Given the description of an element on the screen output the (x, y) to click on. 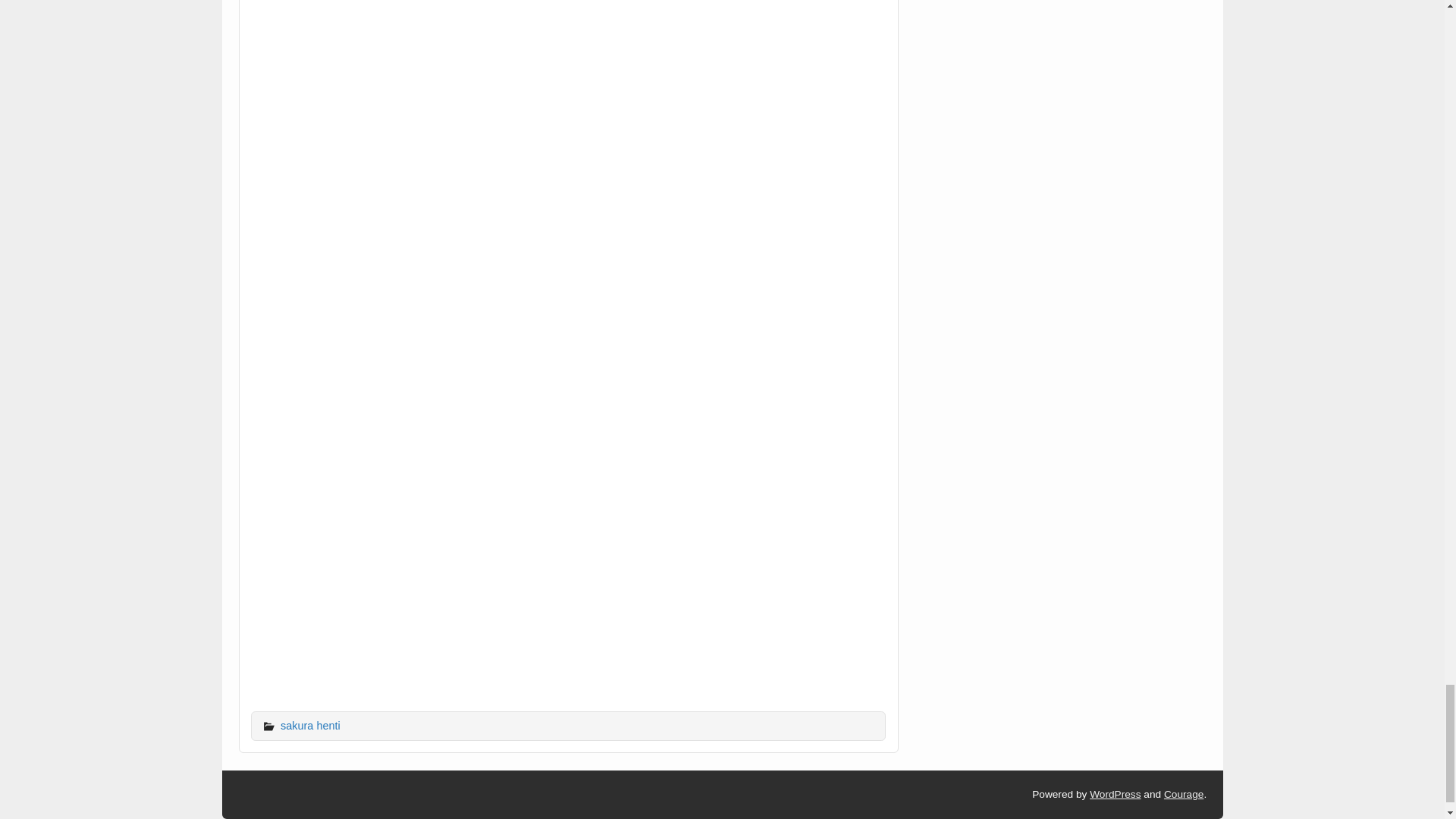
WordPress (1114, 794)
sakura henti (310, 725)
Courage WordPress Theme (1183, 794)
